Given the description of an element on the screen output the (x, y) to click on. 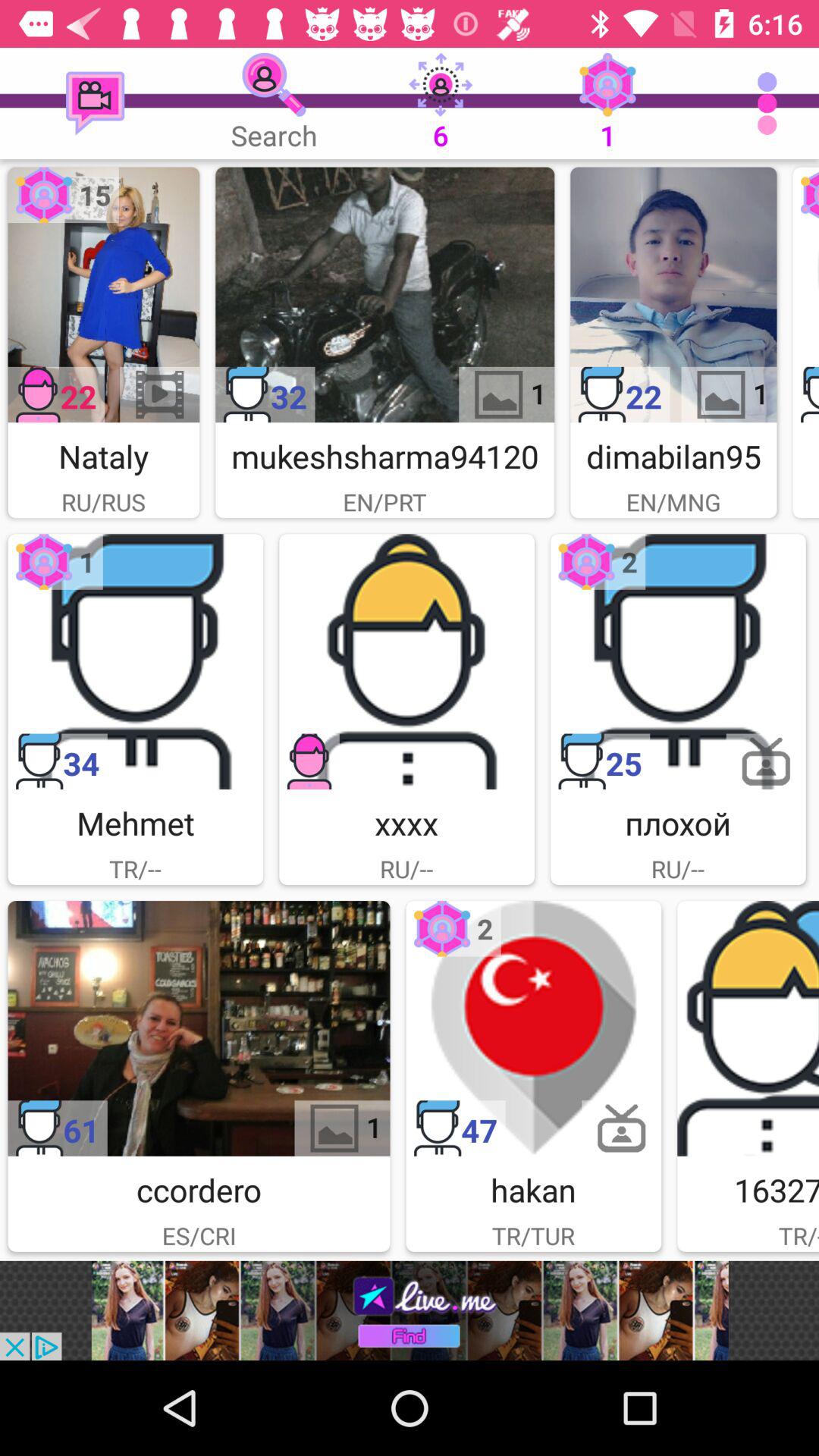
picture post (135, 661)
